Given the description of an element on the screen output the (x, y) to click on. 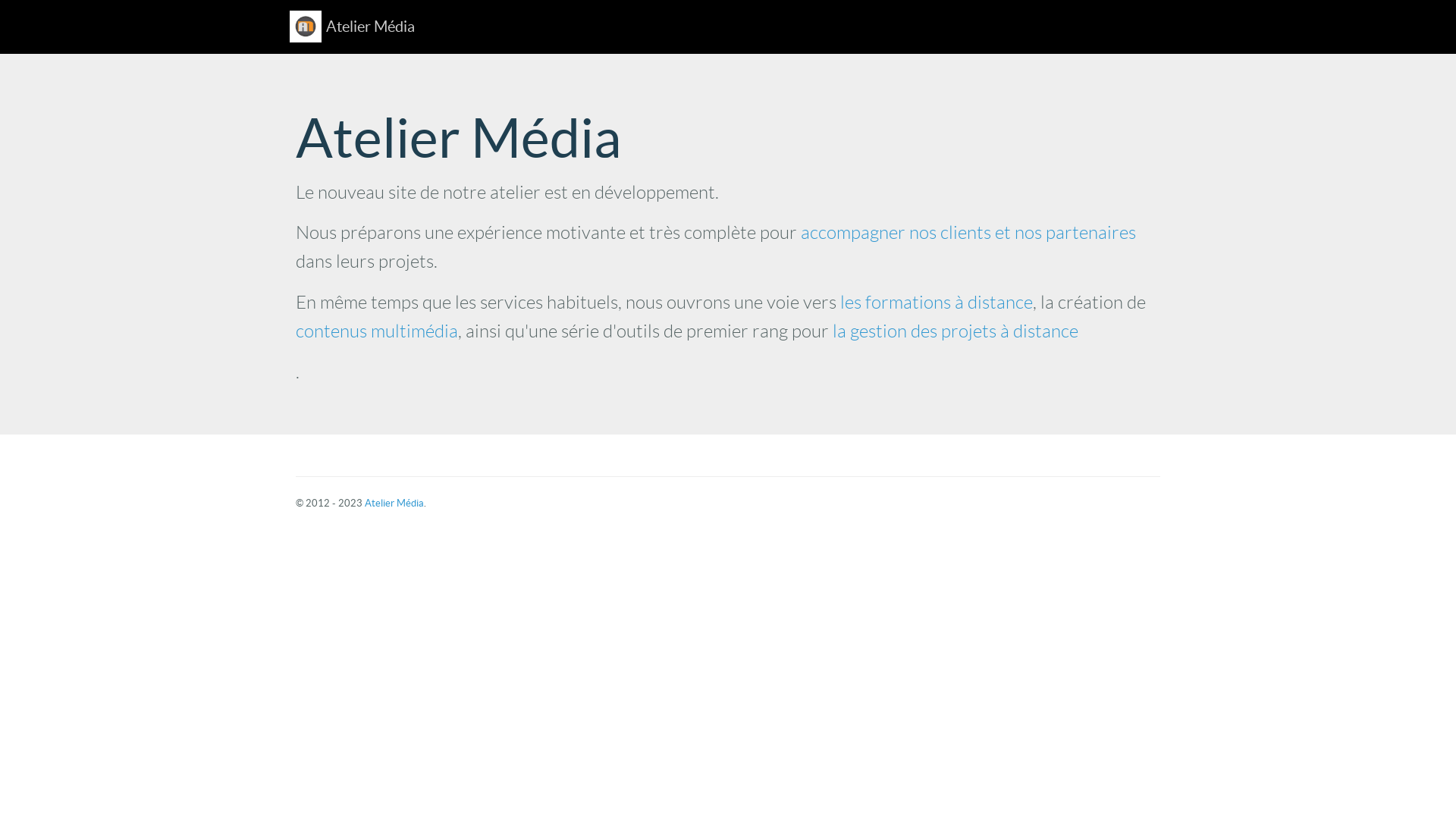
accompagner nos clients et nos partenaires Element type: text (967, 232)
